Given the description of an element on the screen output the (x, y) to click on. 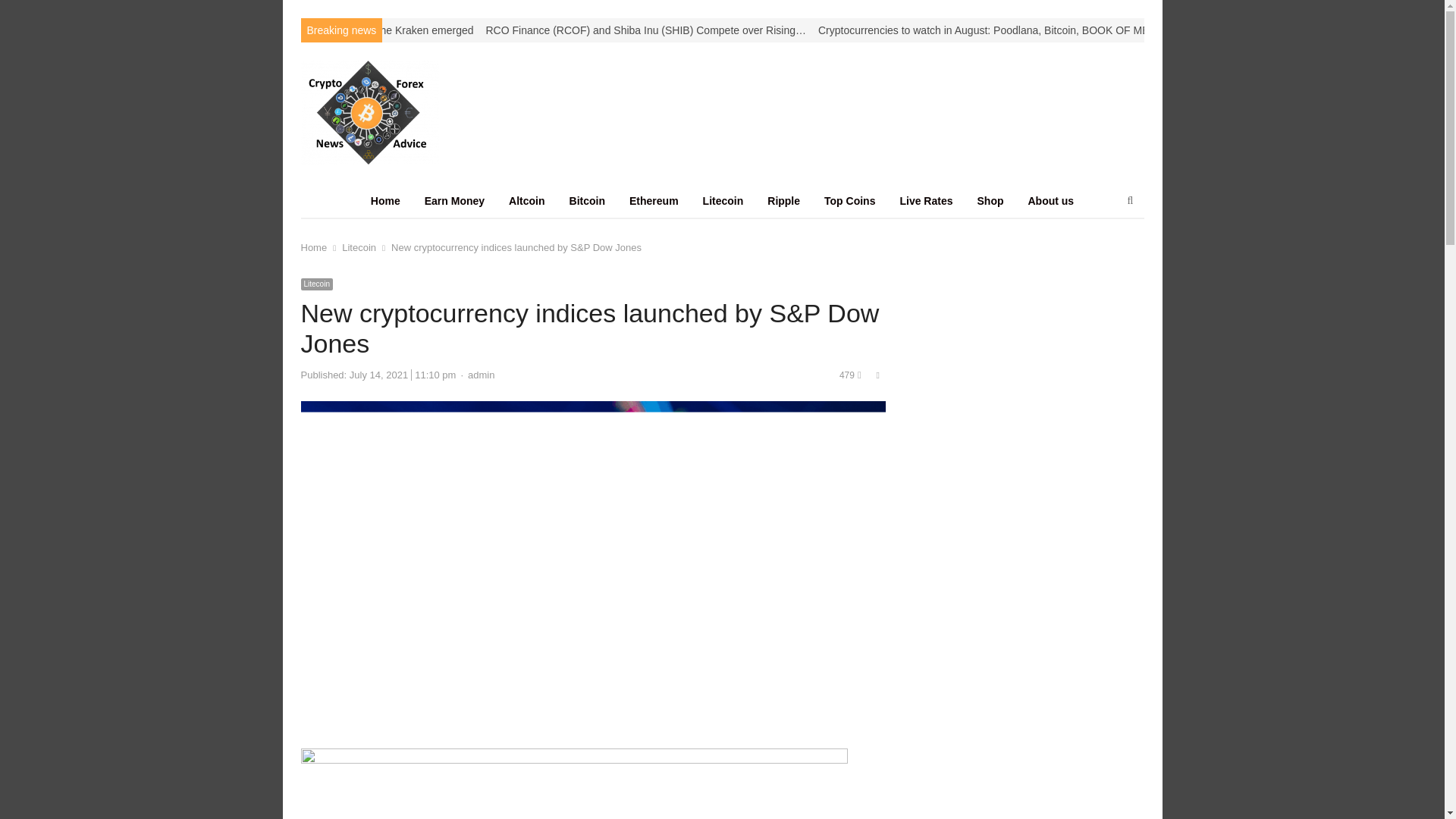
About us (1051, 200)
Live Rates (924, 200)
Share this post (877, 375)
Litecoin (722, 200)
Ethereum (653, 200)
Share this post (877, 375)
Litecoin (358, 247)
Bitcoin (587, 200)
Ripple (783, 200)
Open search panel (1129, 200)
Earn Money (454, 200)
13 years ago: The Kraken emerged (389, 30)
Top Coins (849, 200)
Search (27, 13)
Shop (988, 200)
